Given the description of an element on the screen output the (x, y) to click on. 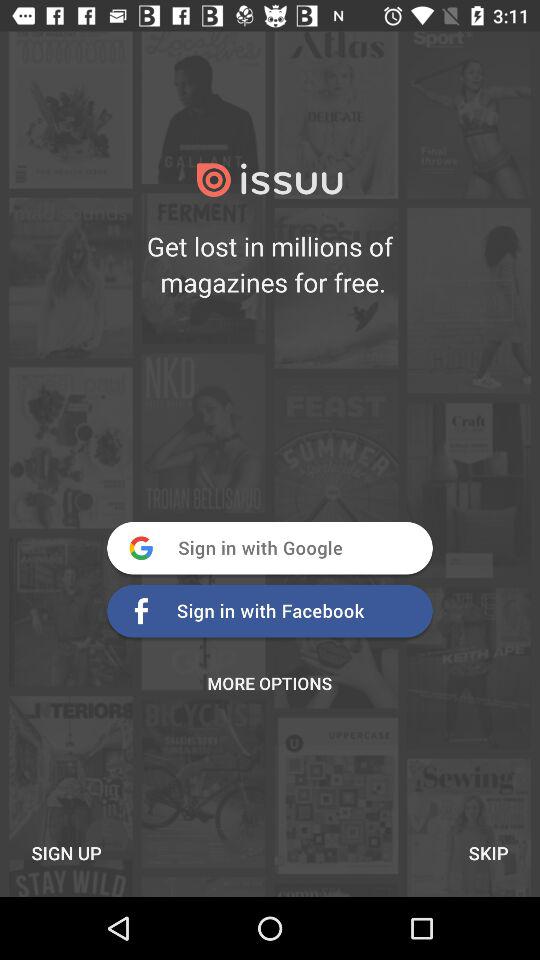
turn on the skip icon (488, 852)
